Given the description of an element on the screen output the (x, y) to click on. 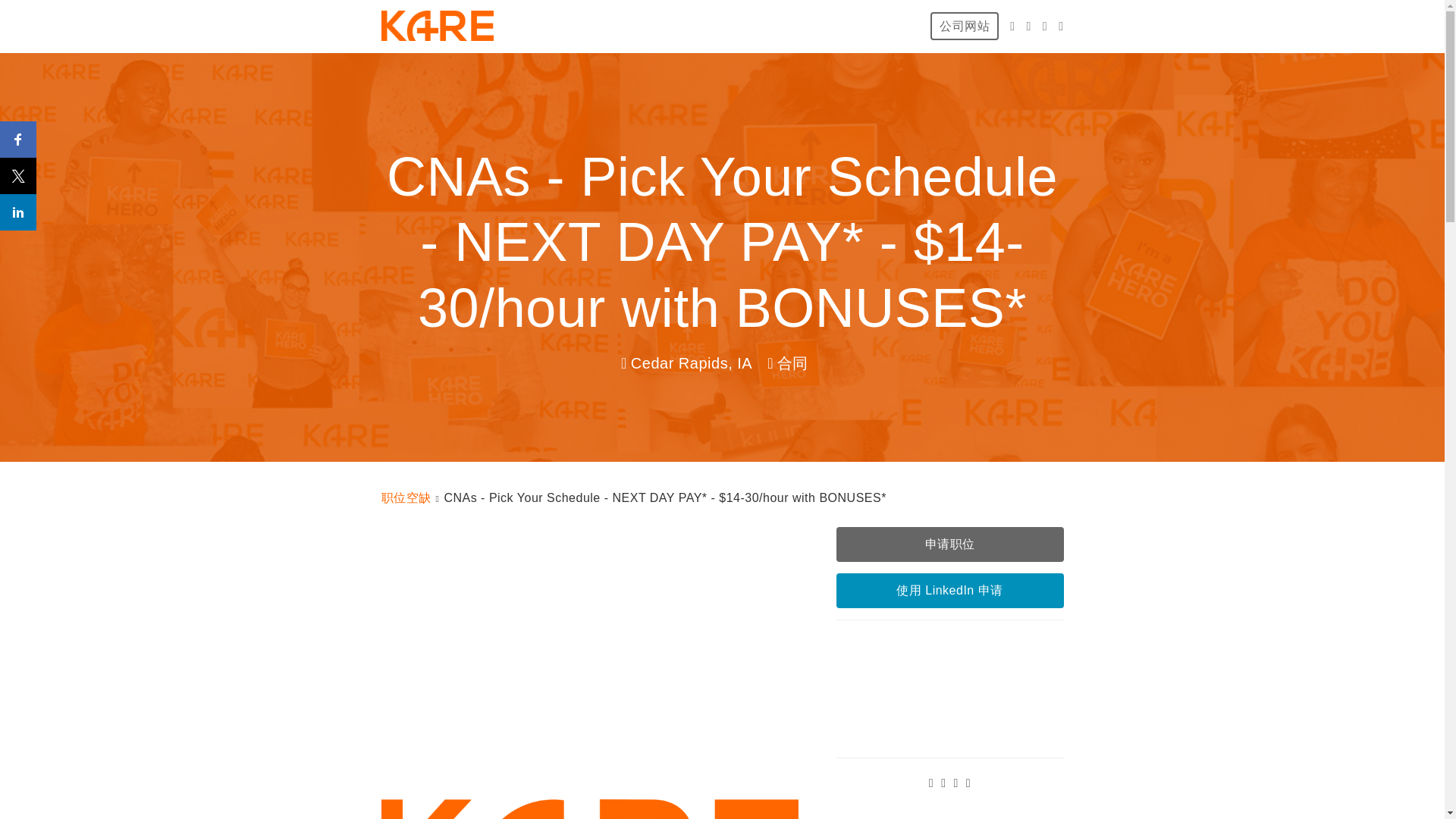
Company location image (948, 688)
